Given the description of an element on the screen output the (x, y) to click on. 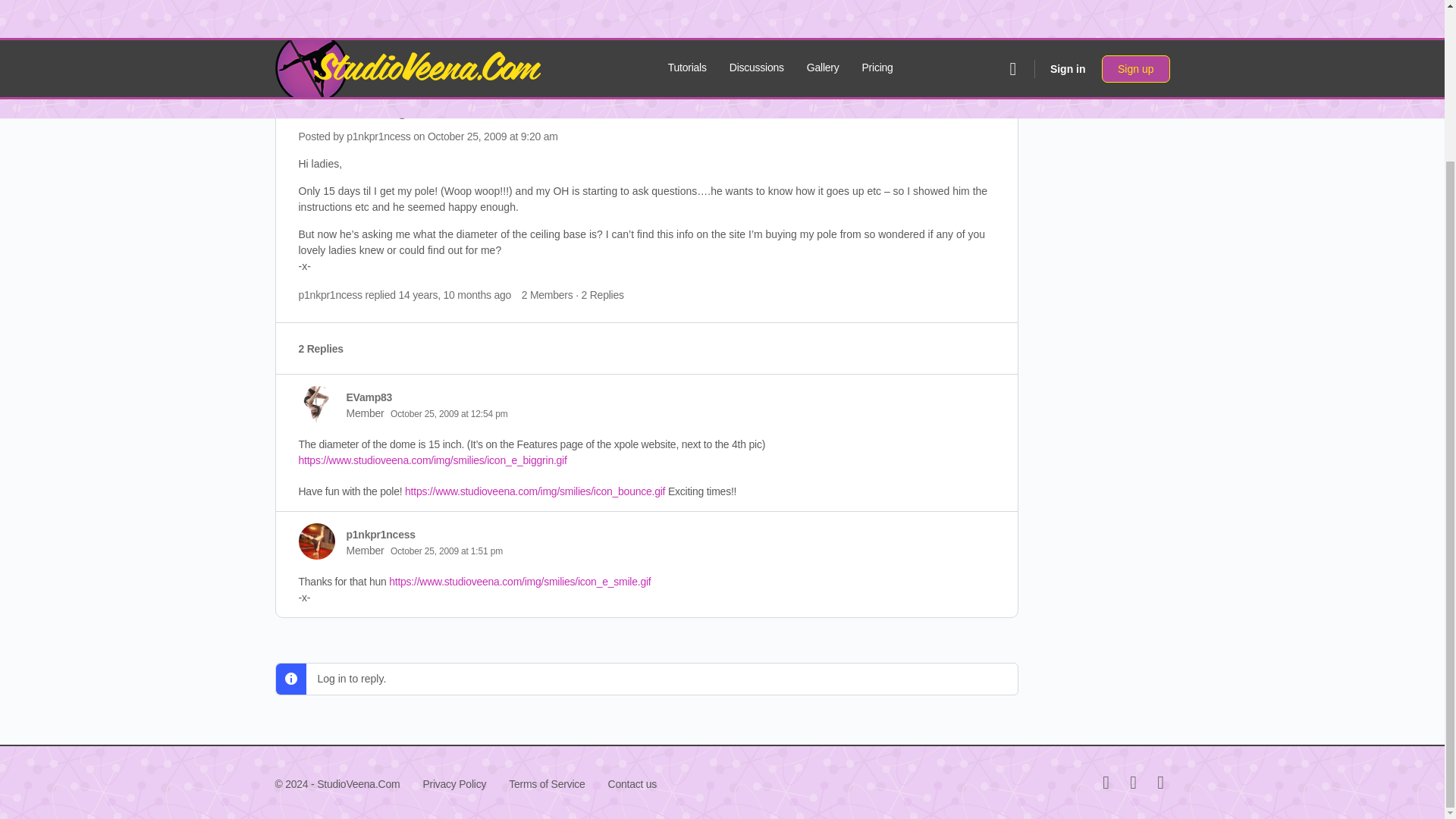
View p1nkpr1ncess's profile (330, 295)
Reply To: X Pole Ceiling Base Diameter? (454, 295)
View EVamp83's profile (316, 403)
p1nkpr1ncess (380, 534)
p1nkpr1ncess (378, 136)
EVamp83 (368, 397)
View p1nkpr1ncess's profile (380, 534)
View EVamp83's profile (368, 397)
View p1nkpr1ncess's profile (378, 136)
14 years, 10 months ago (454, 295)
